Given the description of an element on the screen output the (x, y) to click on. 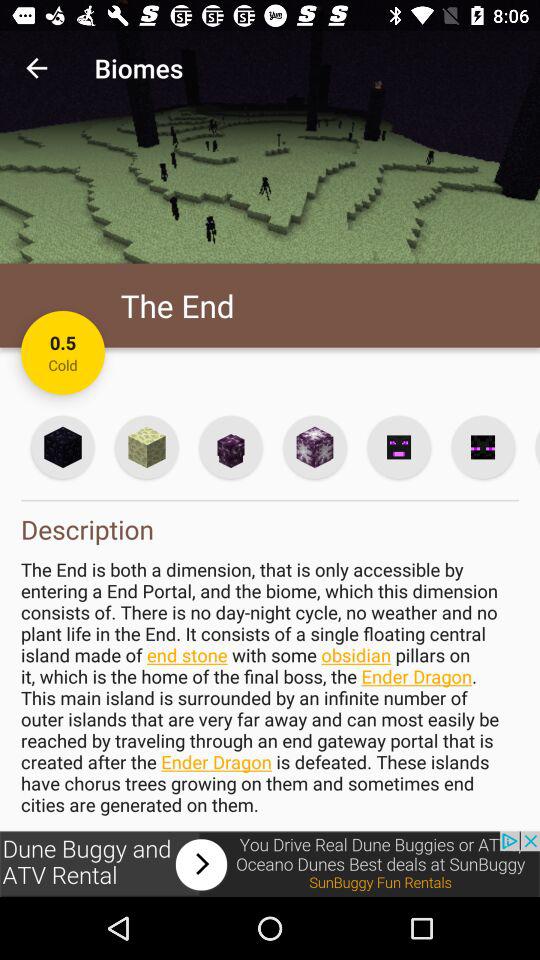
select first box oolor (62, 446)
